Given the description of an element on the screen output the (x, y) to click on. 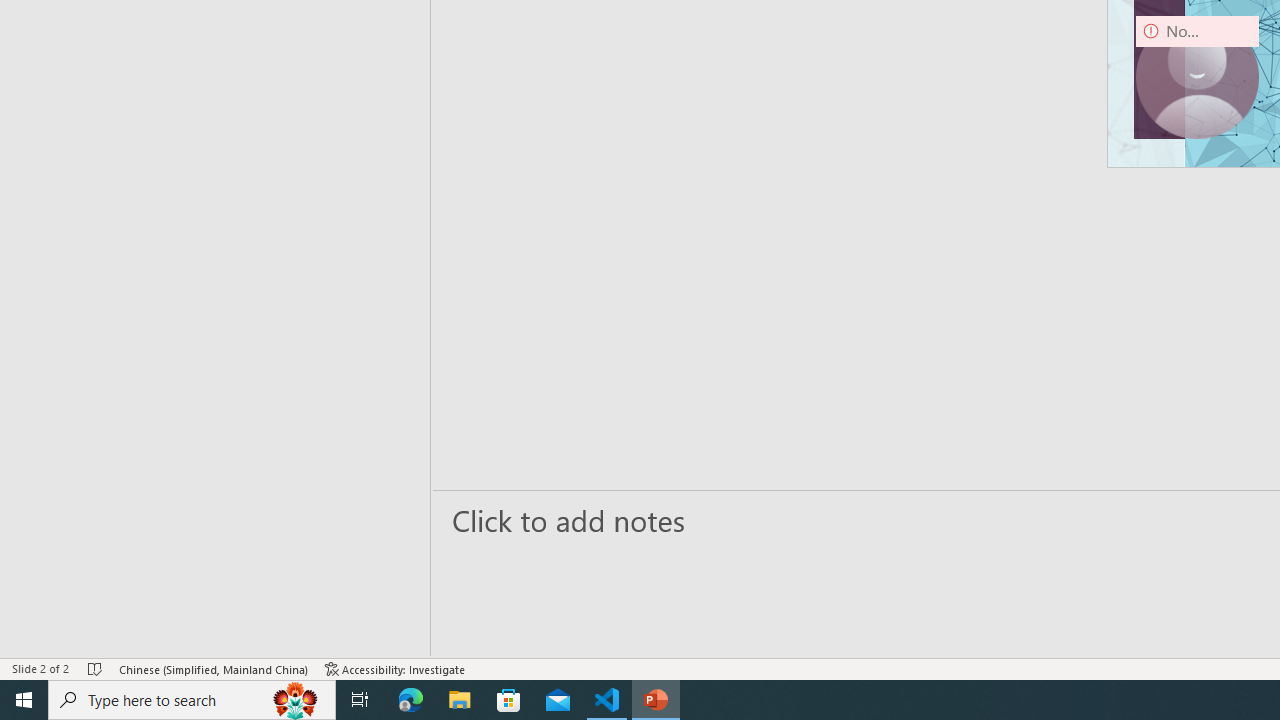
Accessibility Checker Accessibility: Investigate (395, 668)
Spell Check No Errors (95, 668)
Camera 9, No camera detected. (1197, 77)
